Given the description of an element on the screen output the (x, y) to click on. 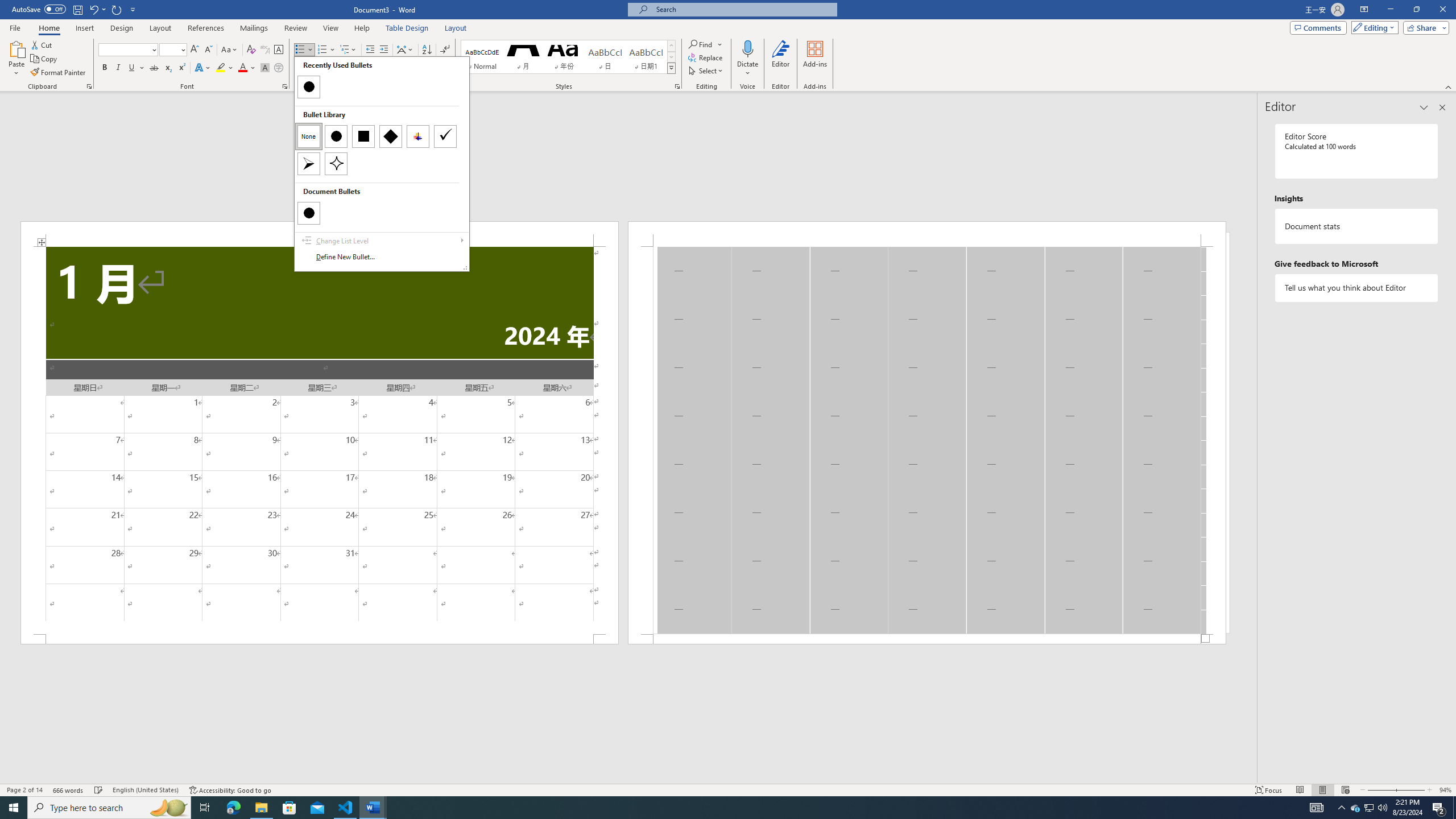
Microsoft Edge (233, 807)
Mailings (253, 28)
